Given the description of an element on the screen output the (x, y) to click on. 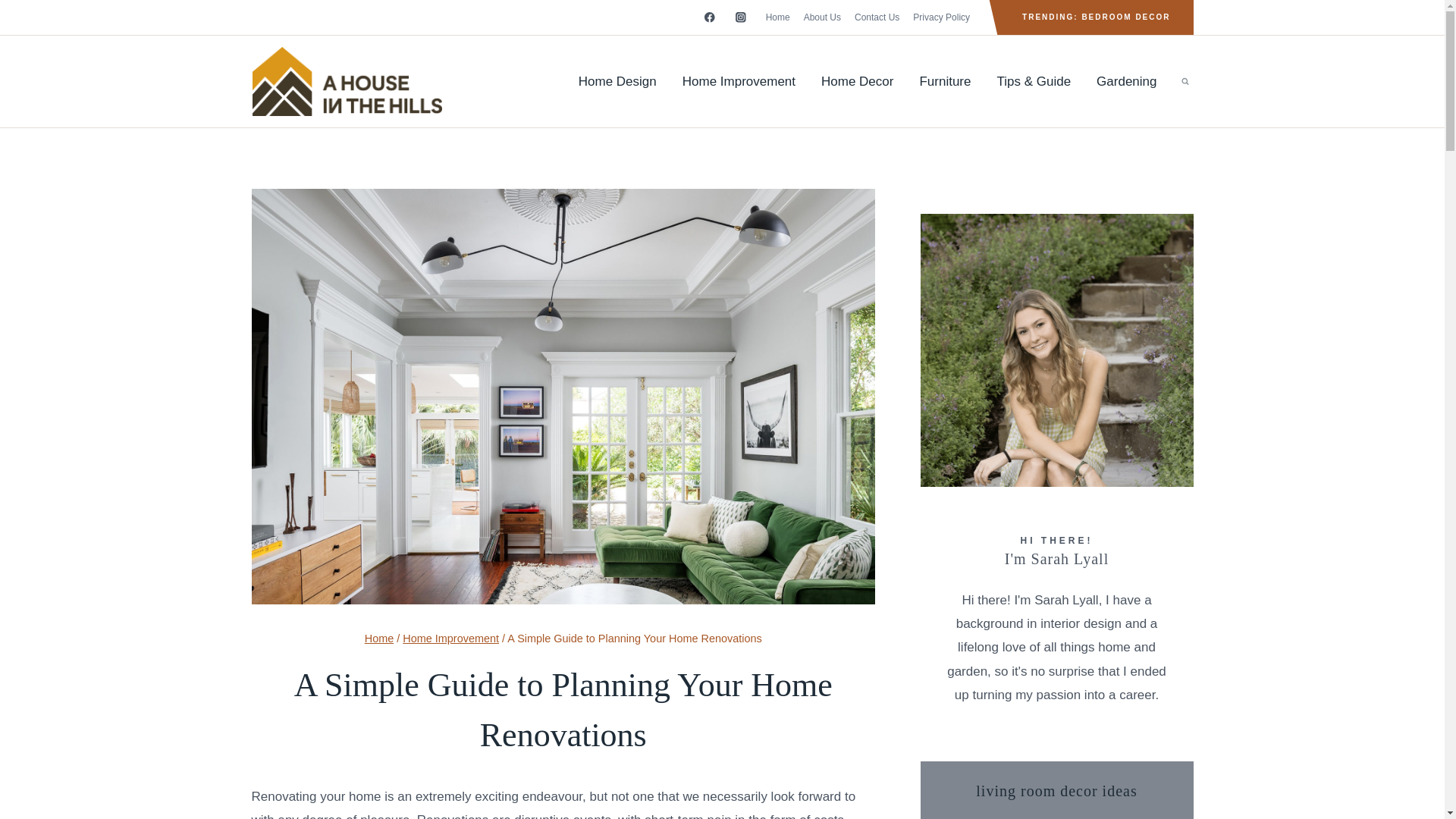
Home Design (617, 81)
About Us (821, 17)
TRENDING: BEDROOM DECOR (1095, 17)
Home Improvement (451, 638)
Furniture (944, 81)
Contact Us (876, 17)
Privacy Policy (940, 17)
Gardening (1126, 81)
Home (379, 638)
Home Decor (856, 81)
Home Improvement (738, 81)
Home (777, 17)
